Given the description of an element on the screen output the (x, y) to click on. 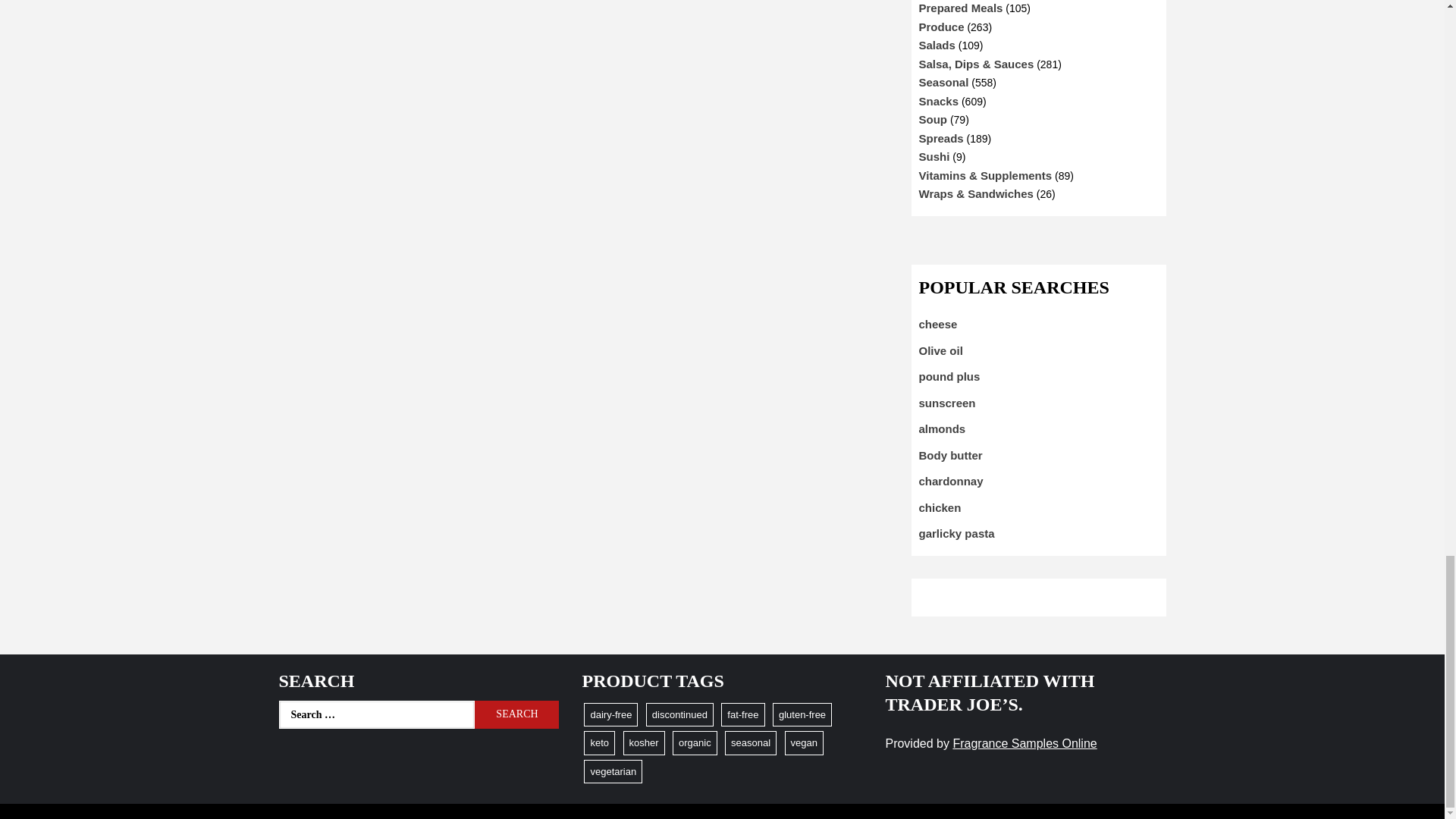
Search (516, 714)
Search (516, 714)
